Given the description of an element on the screen output the (x, y) to click on. 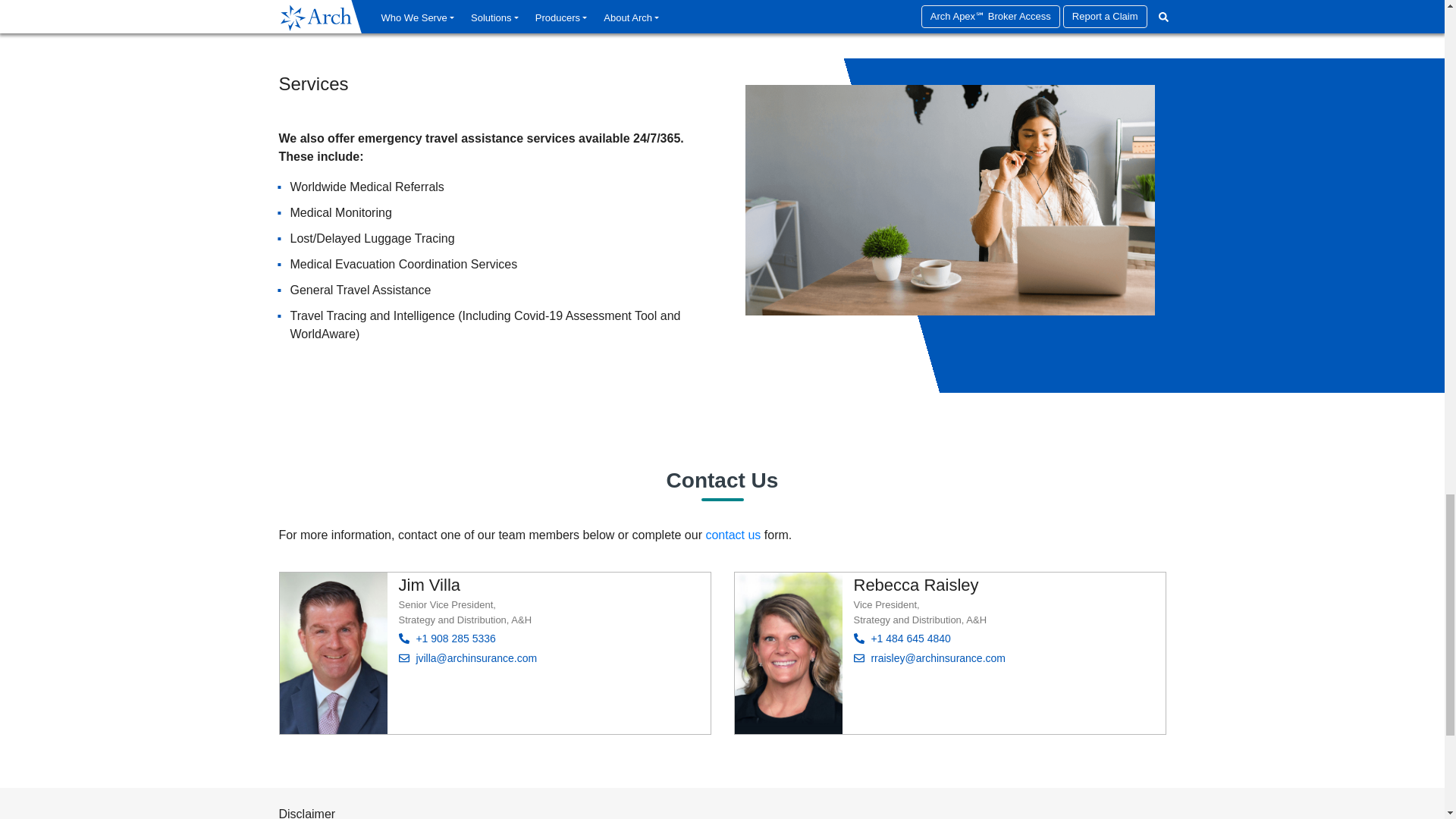
contact us (732, 534)
Go to the Contact Us page (732, 534)
